Given the description of an element on the screen output the (x, y) to click on. 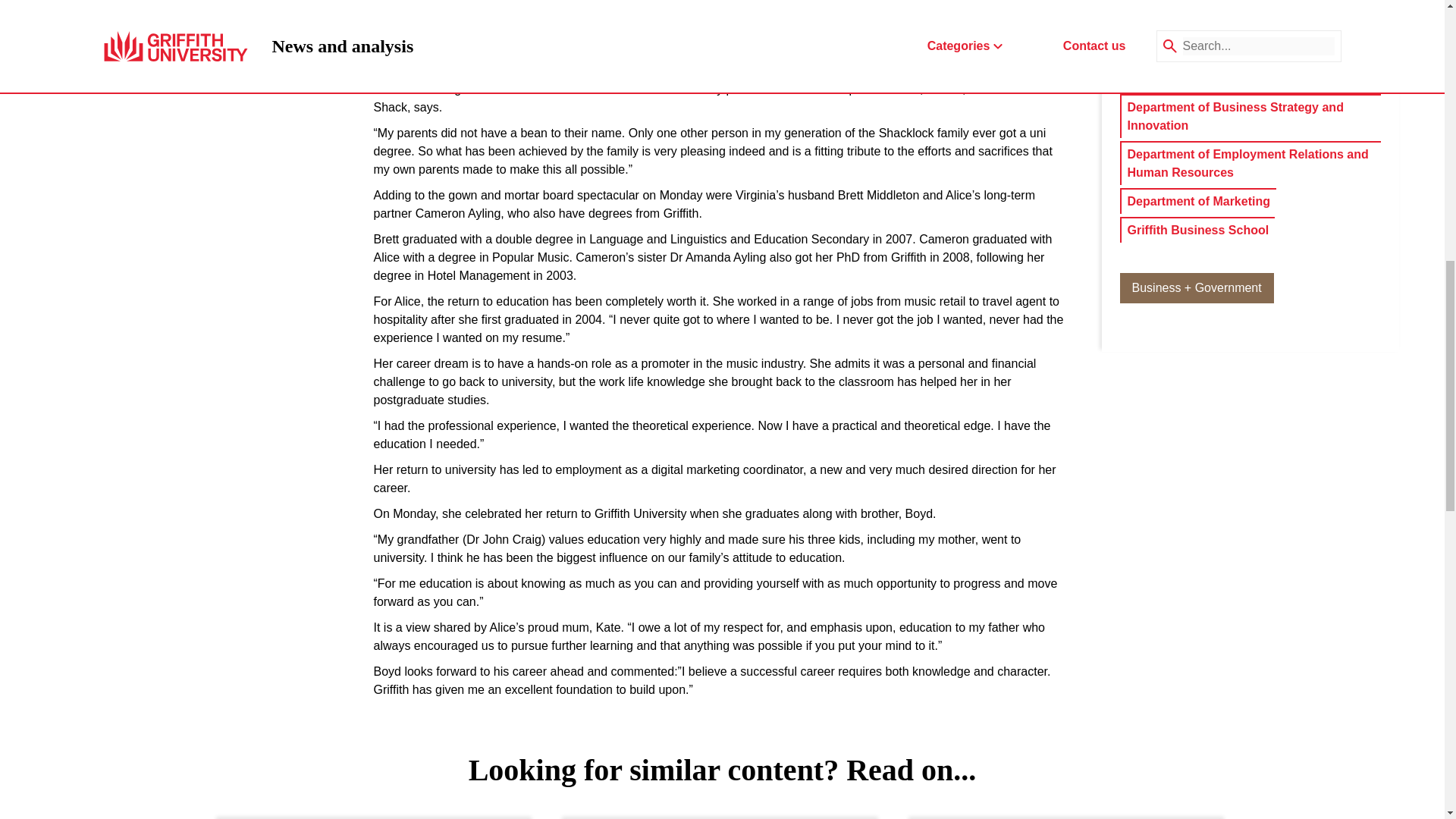
Department of Marketing (1197, 201)
Department of Employment Relations and Human Resources (838, 45)
Department of Employment Relations and Human Resources (1250, 163)
Department of International Business and Asian Studies (736, 63)
Department of Business Strategy and Innovation (1250, 116)
More from Stephen (1249, 21)
Griffith Business School (1197, 230)
